Given the description of an element on the screen output the (x, y) to click on. 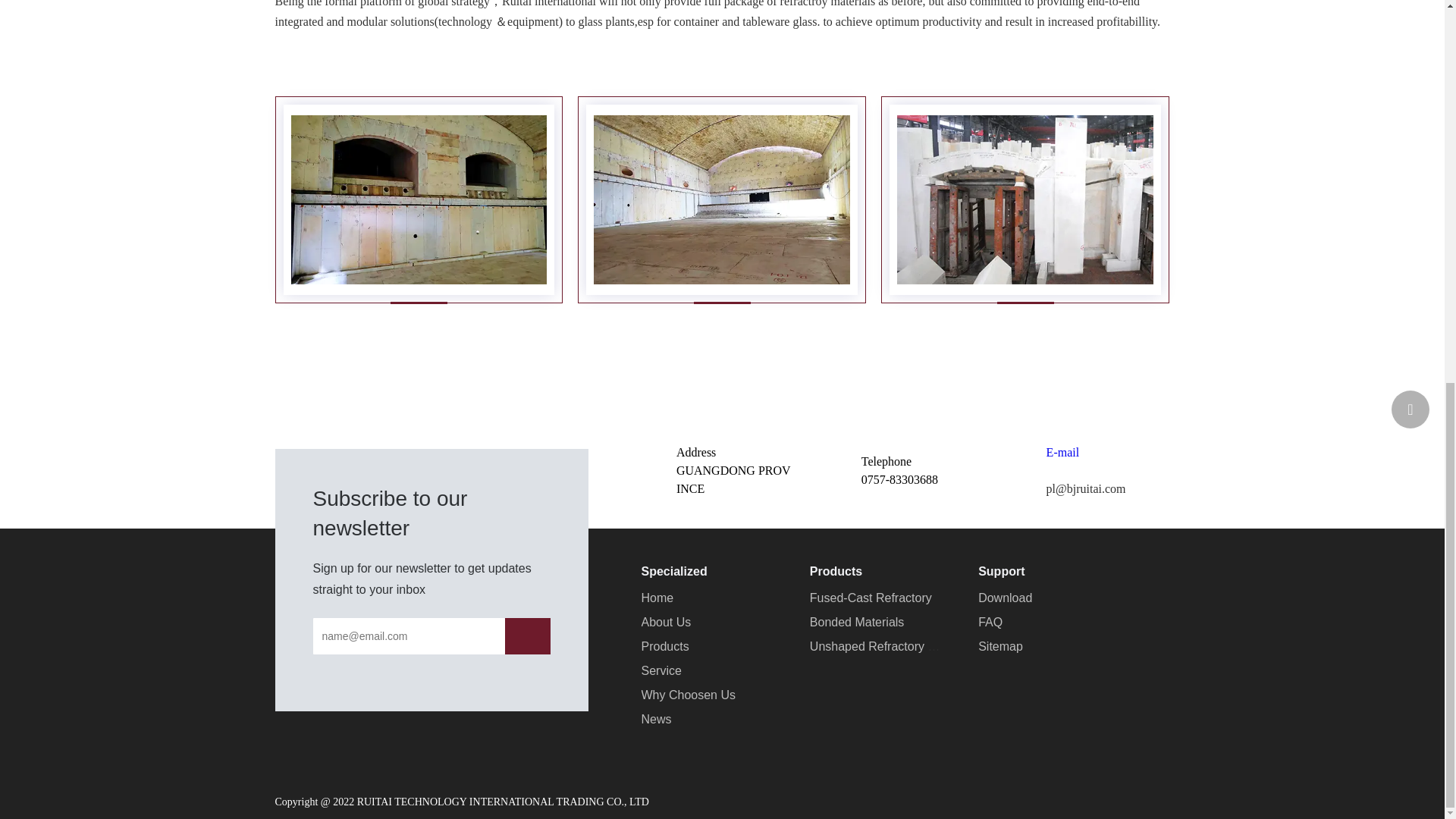
E-mail (1063, 451)
Why Choosen Us (689, 694)
News (656, 718)
Sitemap (1000, 645)
Unshaped Refractory Materials (892, 645)
Download (1005, 597)
FAQ (990, 621)
Service (661, 670)
Fused-Cast Refractory (870, 597)
About Us (666, 621)
Home (658, 597)
Home (658, 597)
Products (665, 645)
About Us (666, 621)
Bonded Materials (856, 621)
